Given the description of an element on the screen output the (x, y) to click on. 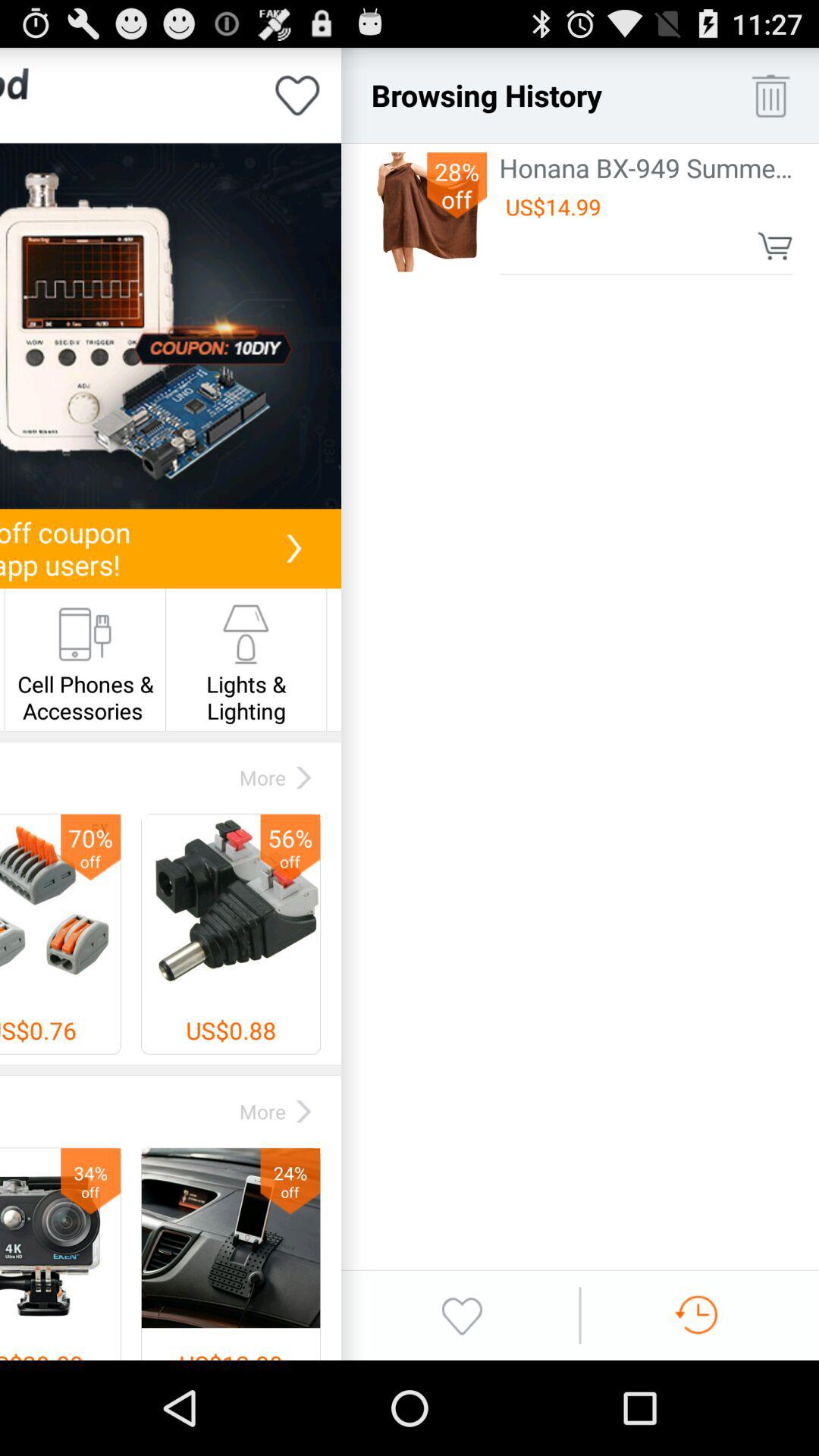
press the icon next to the honana bx 949 (426, 211)
